Given the description of an element on the screen output the (x, y) to click on. 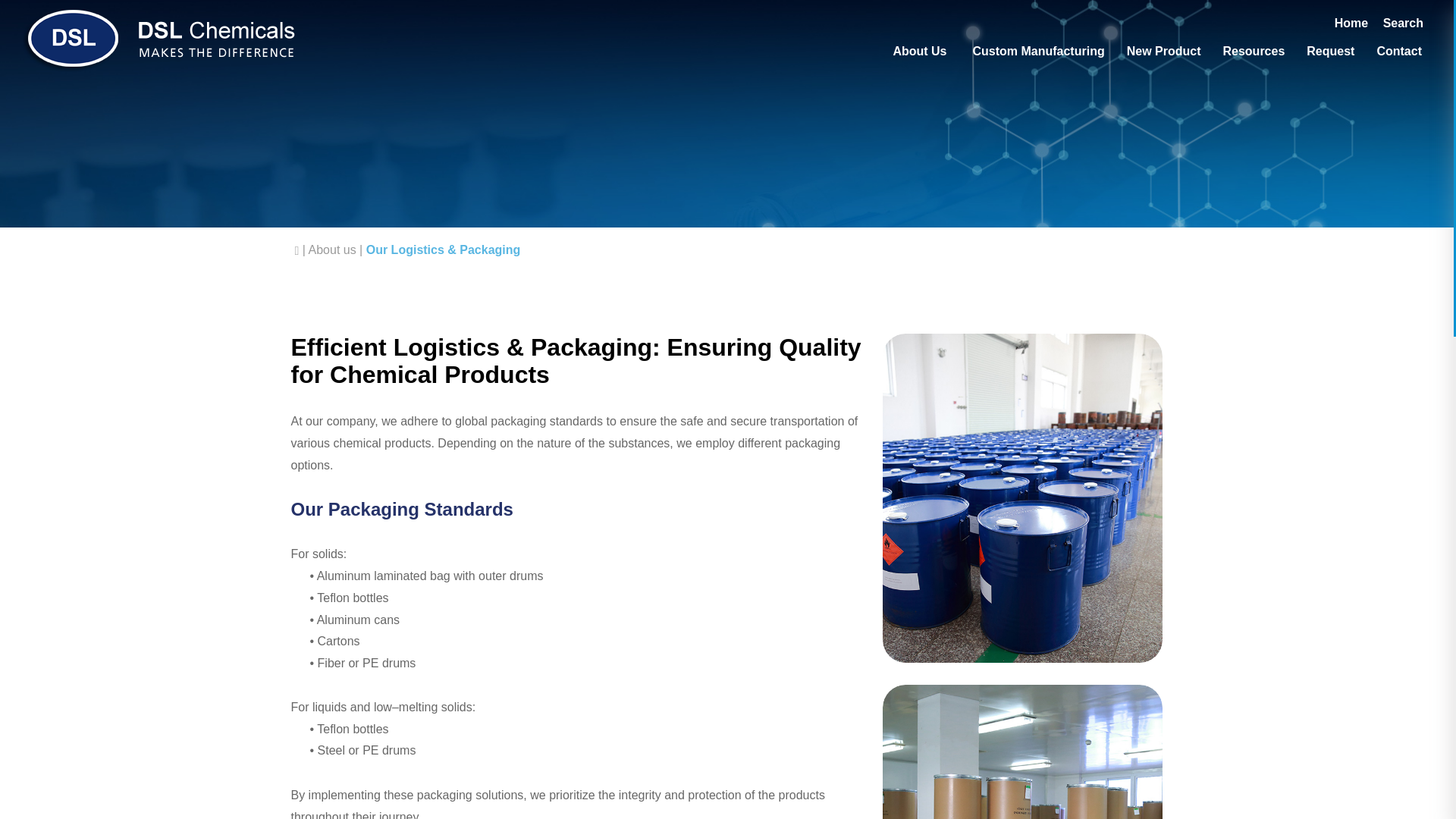
New Product (1163, 51)
Search (1403, 22)
Contact (1398, 51)
About Us (919, 51)
Home (1351, 22)
Request (1329, 51)
Resources (1253, 51)
Custom Manufacturing (1038, 51)
